Given the description of an element on the screen output the (x, y) to click on. 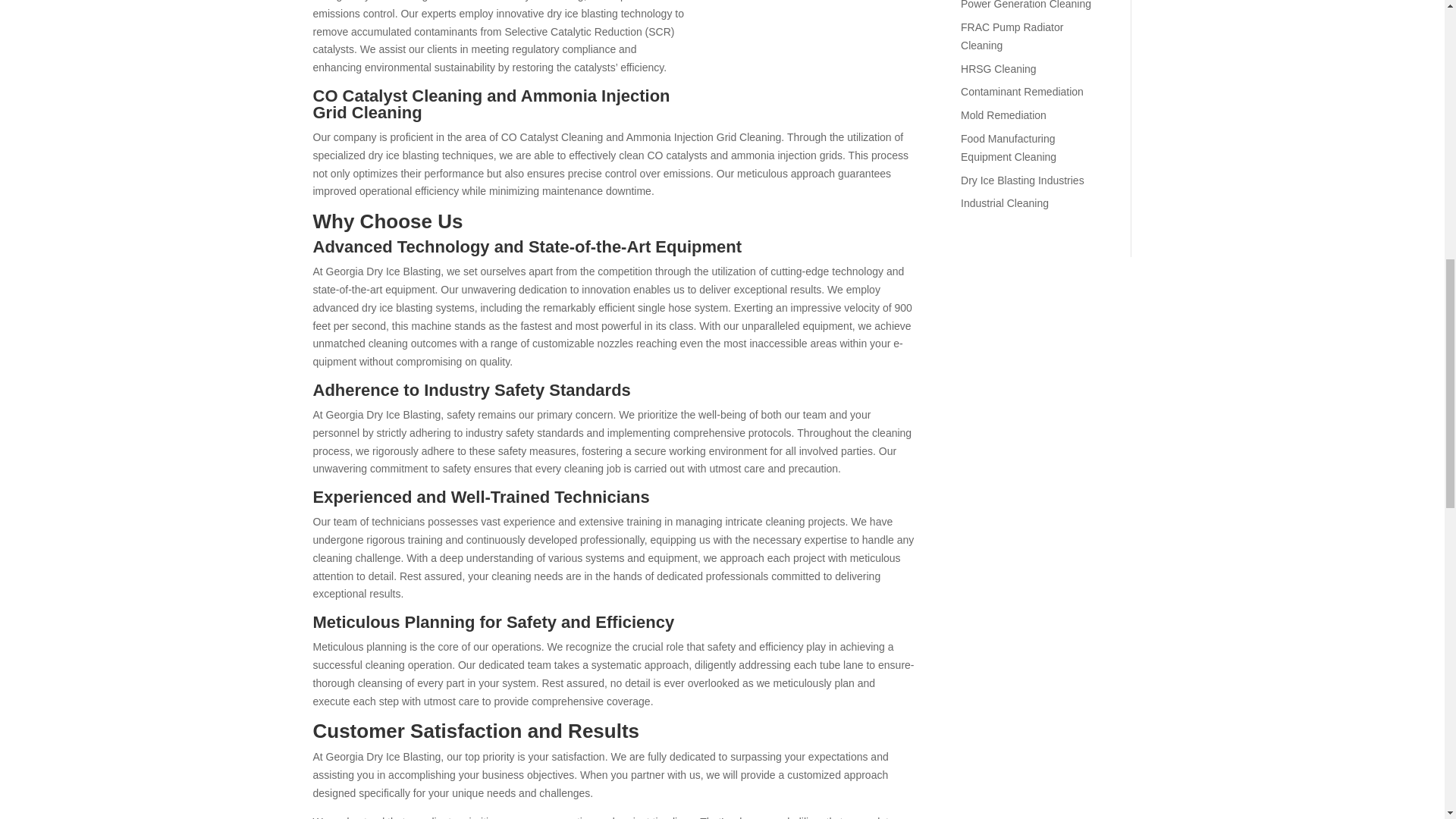
Industrial Cleaning (1004, 203)
Dry Ice Blasting Industries (1022, 180)
Mold Remediation (1003, 114)
Contact Form (1045, 336)
FRAC Pump Radiator Cleaning (1011, 36)
Power Generation Cleaning (1025, 4)
HRSG Cleaning (998, 69)
Contaminant Remediation (1021, 91)
Food Manufacturing Equipment Cleaning (1008, 147)
